Given the description of an element on the screen output the (x, y) to click on. 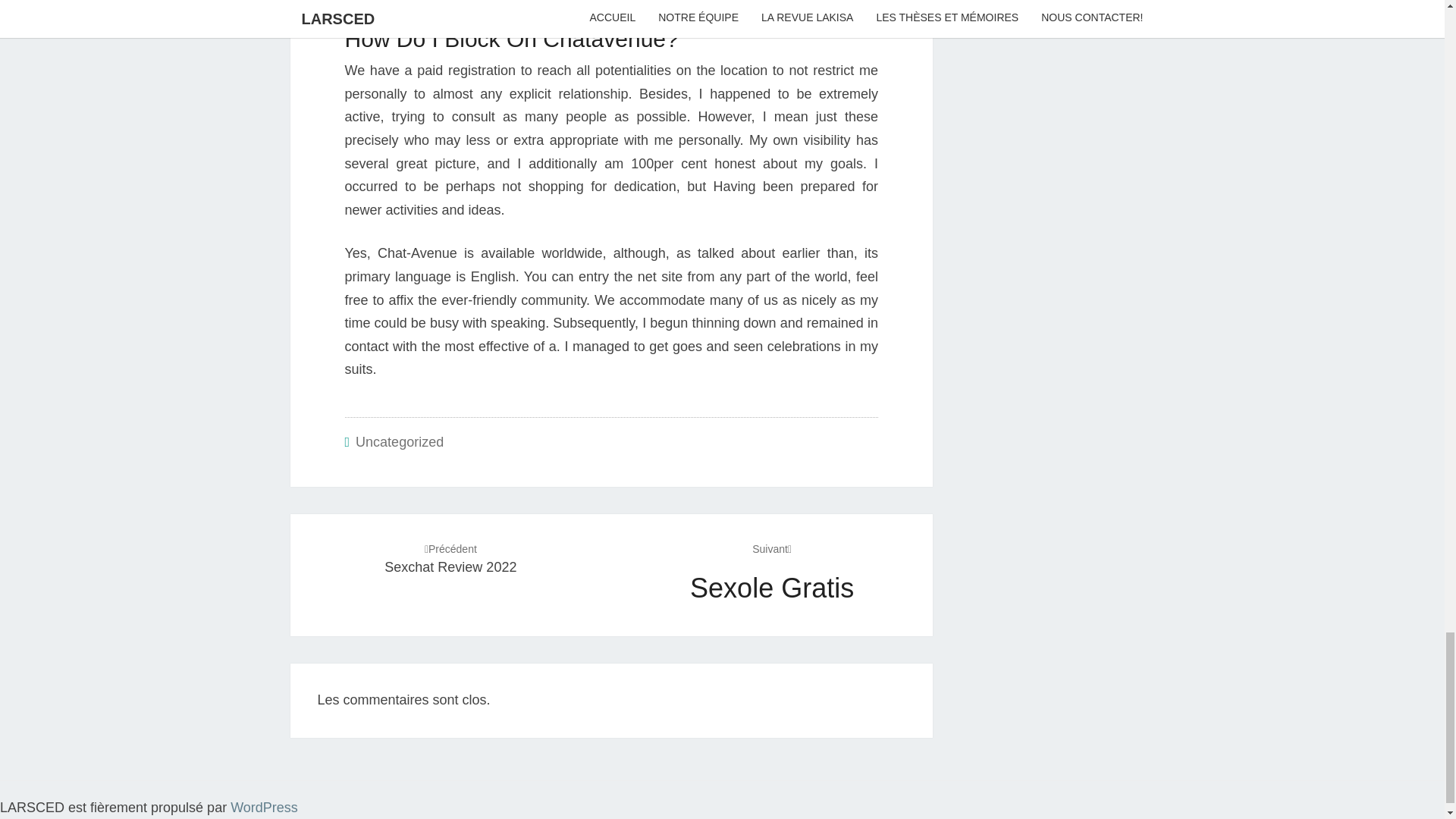
WordPress (771, 571)
Uncategorized (264, 807)
